Given the description of an element on the screen output the (x, y) to click on. 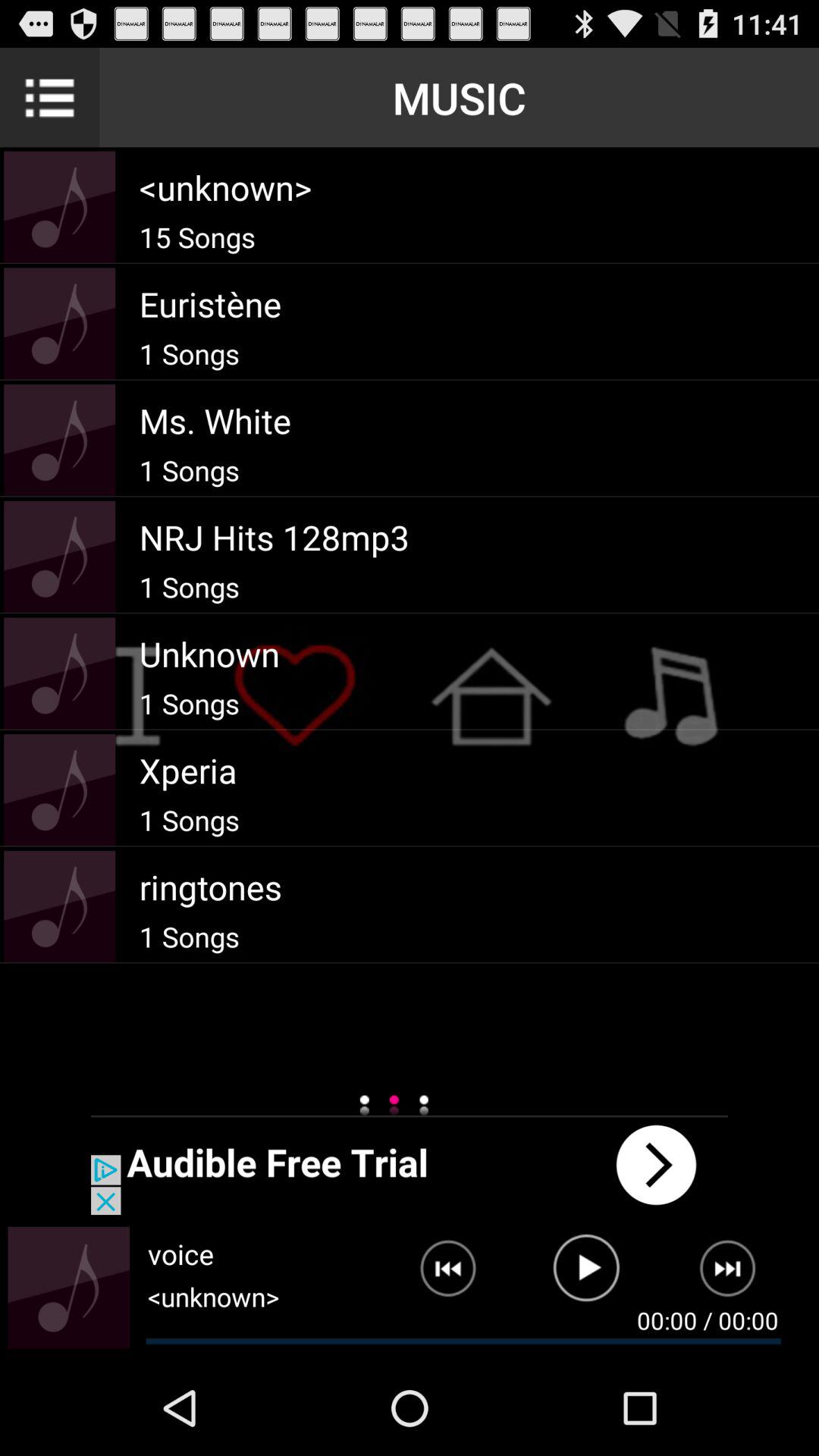
open an advertisement for audible free trial (409, 1164)
